Given the description of an element on the screen output the (x, y) to click on. 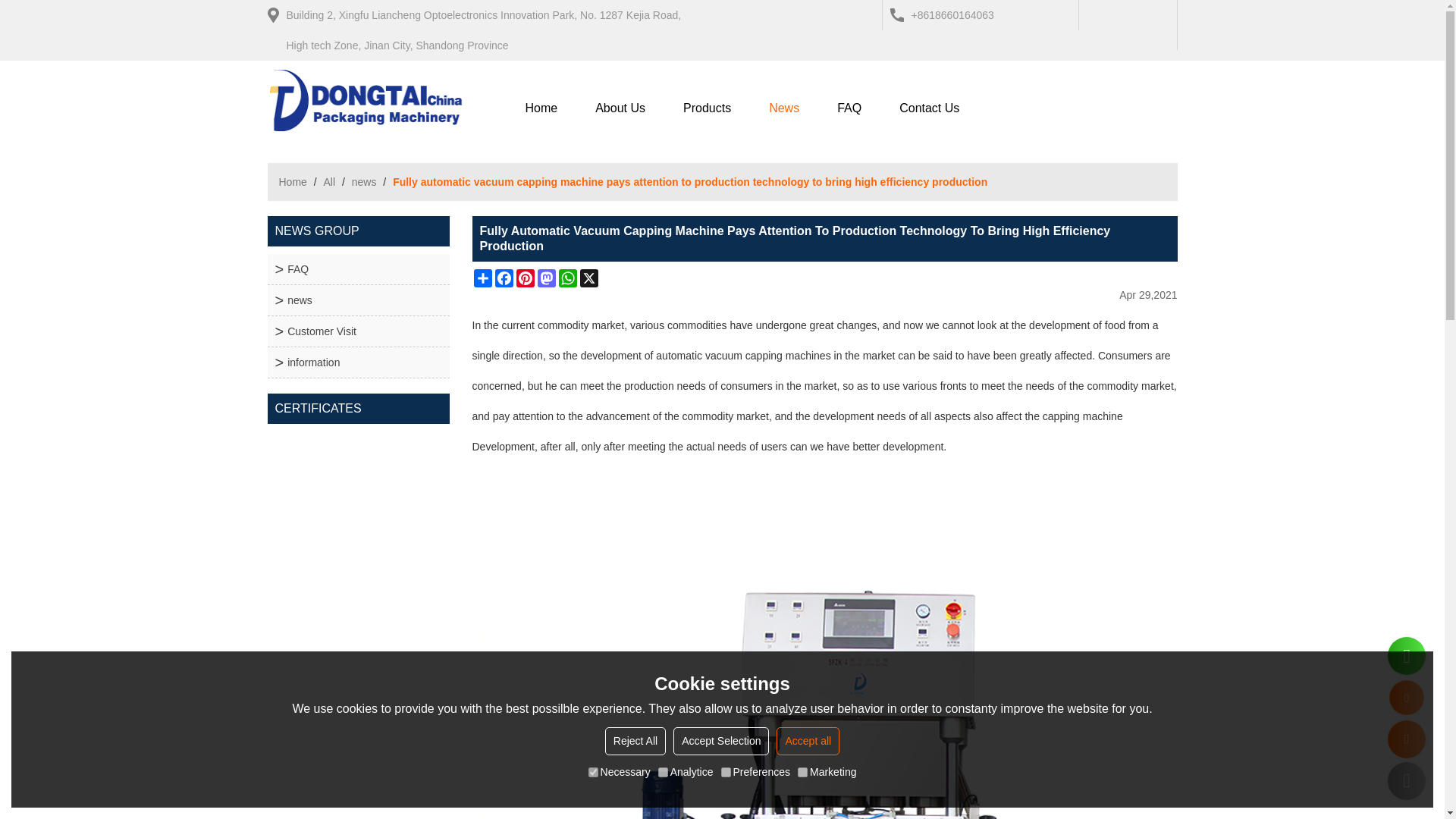
FAQ (848, 107)
information (357, 362)
Facebook (503, 278)
Contact Us (929, 107)
news (357, 300)
Mastodon (545, 278)
on (663, 772)
Contact Us (929, 107)
news (357, 300)
Customer Visit (357, 331)
